Given the description of an element on the screen output the (x, y) to click on. 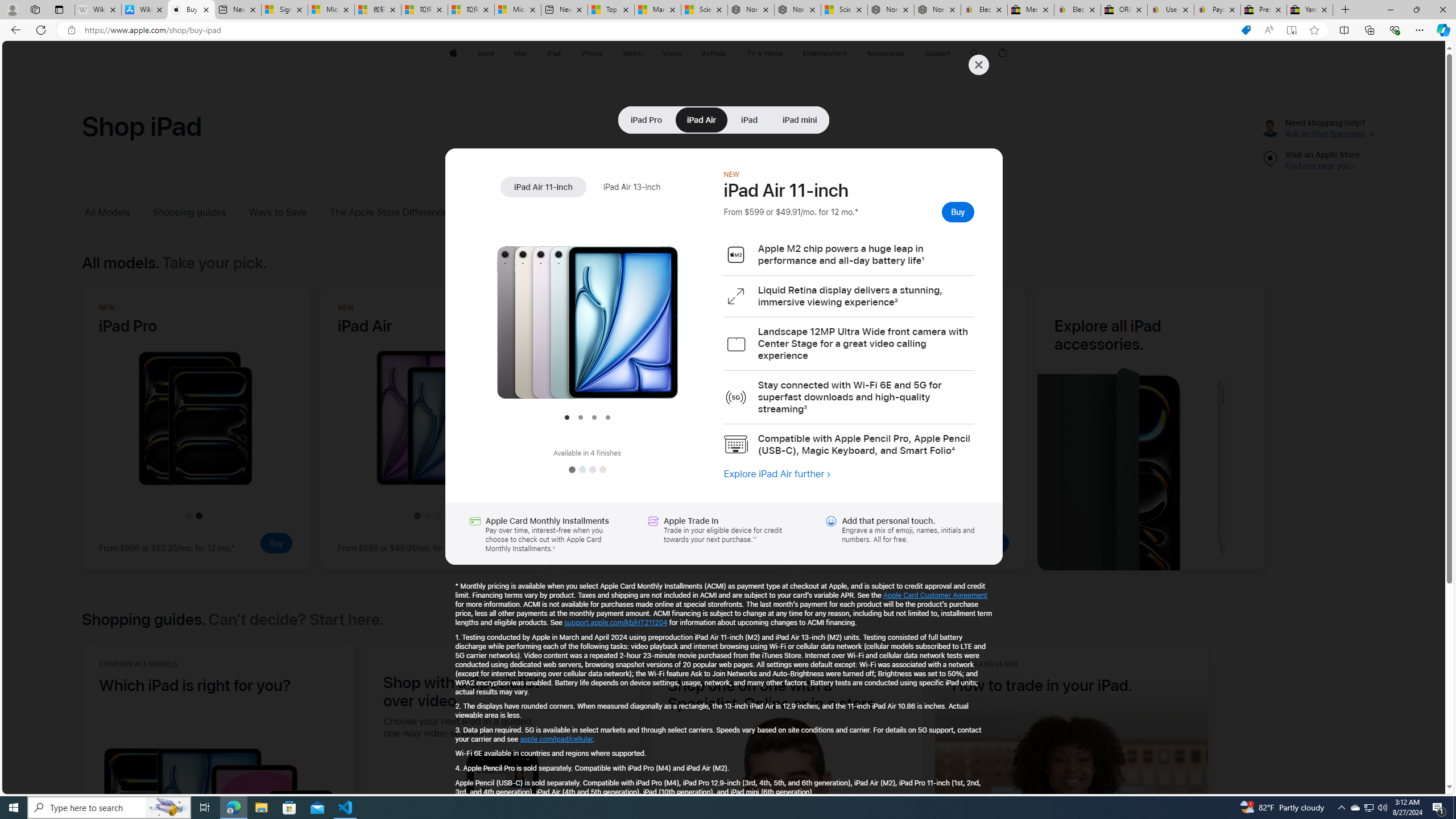
Buy iPad - Apple (191, 9)
Space Gray (571, 469)
Purple (591, 469)
iPad Air 13-inch (631, 186)
Item 1 (566, 417)
iPad Pro (645, 119)
apple.com/ipad/cellular (555, 738)
Item 3 (593, 417)
Space Gray (571, 469)
